Given the description of an element on the screen output the (x, y) to click on. 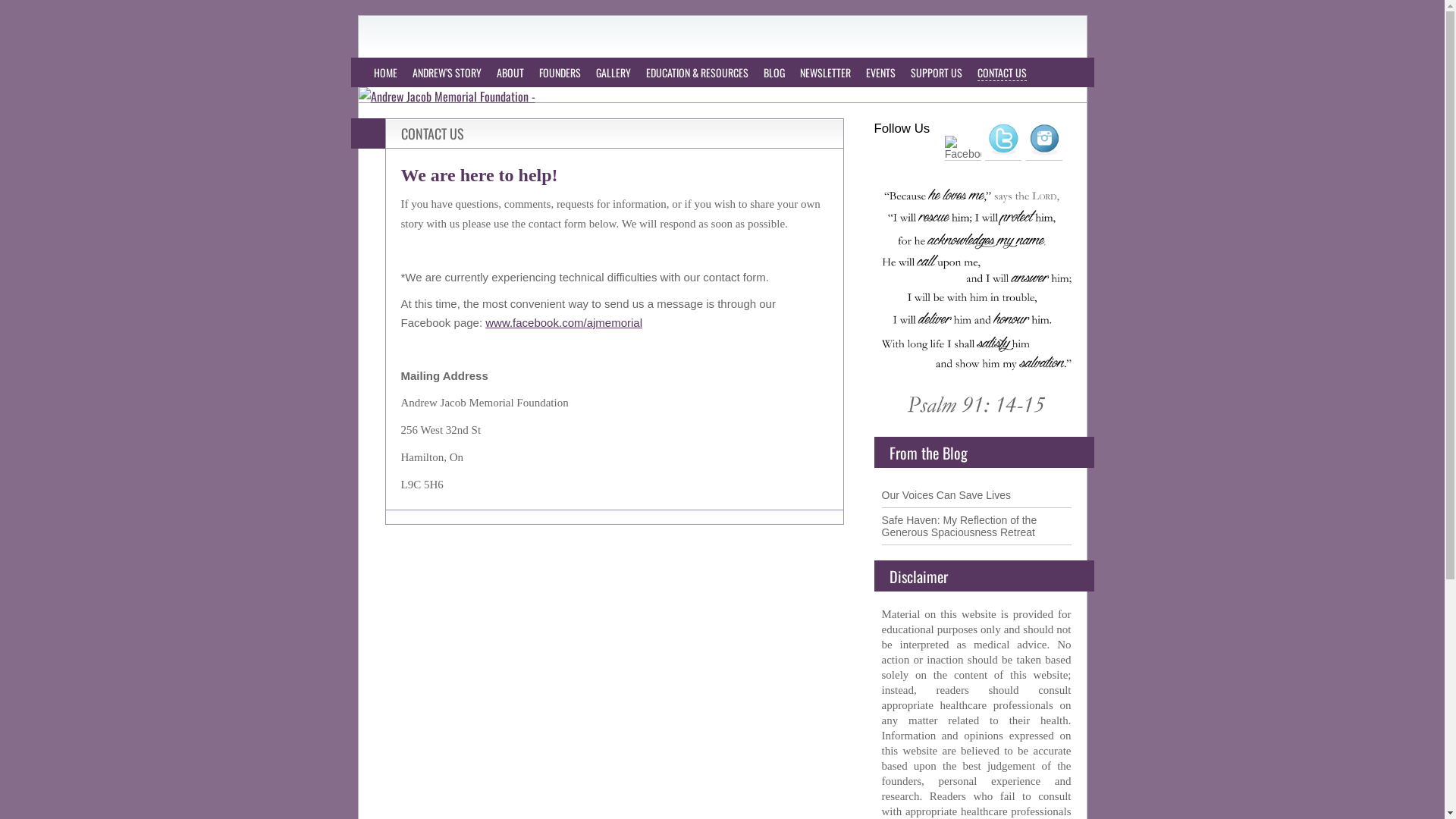
FOUNDERS Element type: text (559, 72)
EVENTS Element type: text (880, 72)
Instagram Element type: hover (1044, 139)
HOME Element type: text (384, 72)
EDUCATION & RESOURCES Element type: text (697, 72)
ABOUT Element type: text (509, 72)
CONTACT US Element type: text (431, 133)
Andrew Jacob Memorial Foundation Element type: text (371, 31)
BLOG Element type: text (773, 72)
CONTACT US Element type: text (1001, 72)
Our Voices Can Save Lives Element type: text (945, 495)
www.facebook.com/ajmemorial Element type: text (563, 322)
Twitter Element type: hover (1003, 139)
NEWSLETTER Element type: text (824, 72)
GALLERY Element type: text (613, 72)
Facebook Element type: hover (962, 147)
SUPPORT US Element type: text (935, 72)
